Given the description of an element on the screen output the (x, y) to click on. 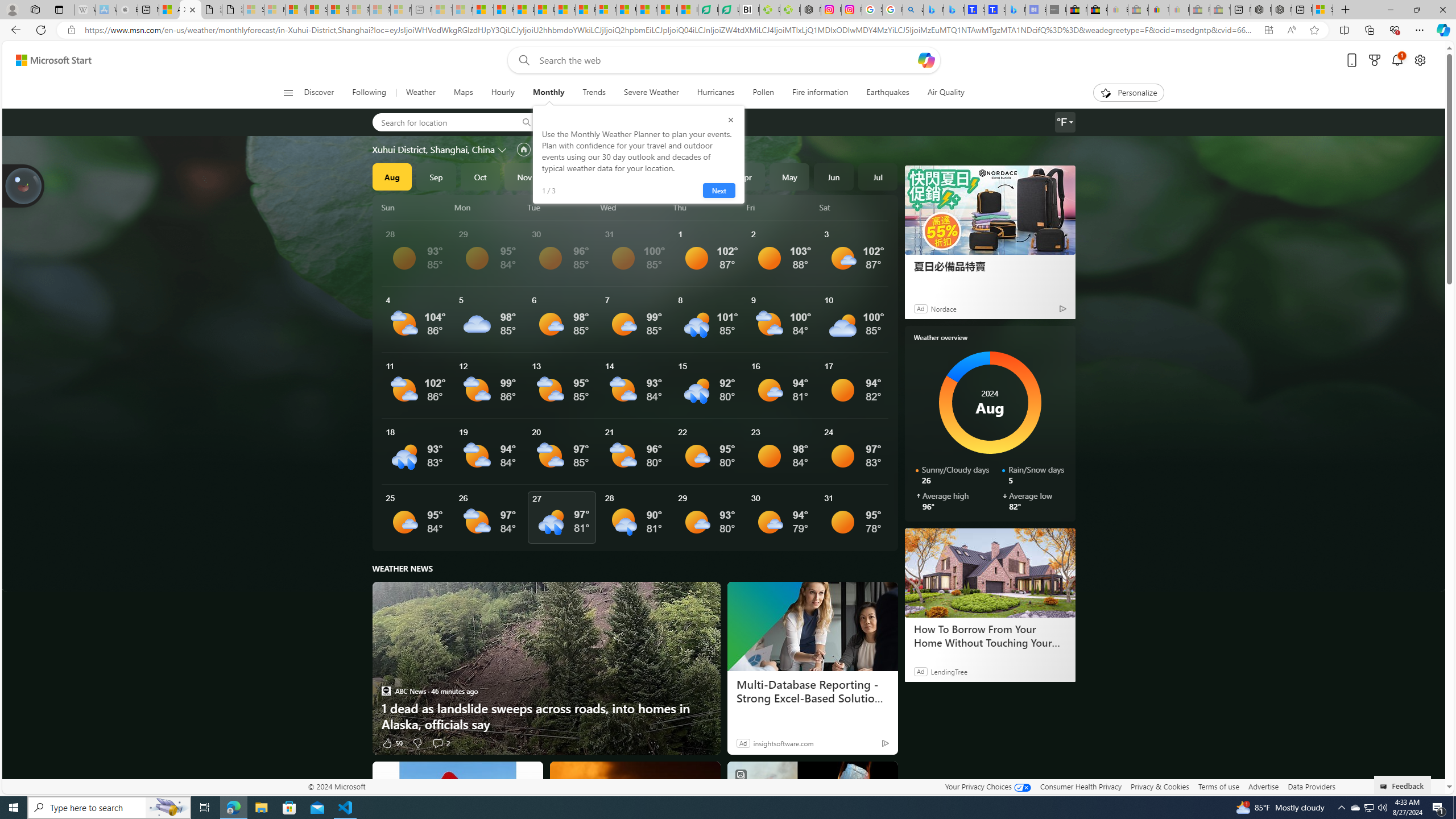
Terms of use (1218, 785)
Set as primary location (522, 149)
Nvidia va a poner a prueba la paciencia de los inversores (748, 9)
Your Privacy Choices (987, 785)
Descarga Driver Updater (789, 9)
Mar (700, 176)
